Given the description of an element on the screen output the (x, y) to click on. 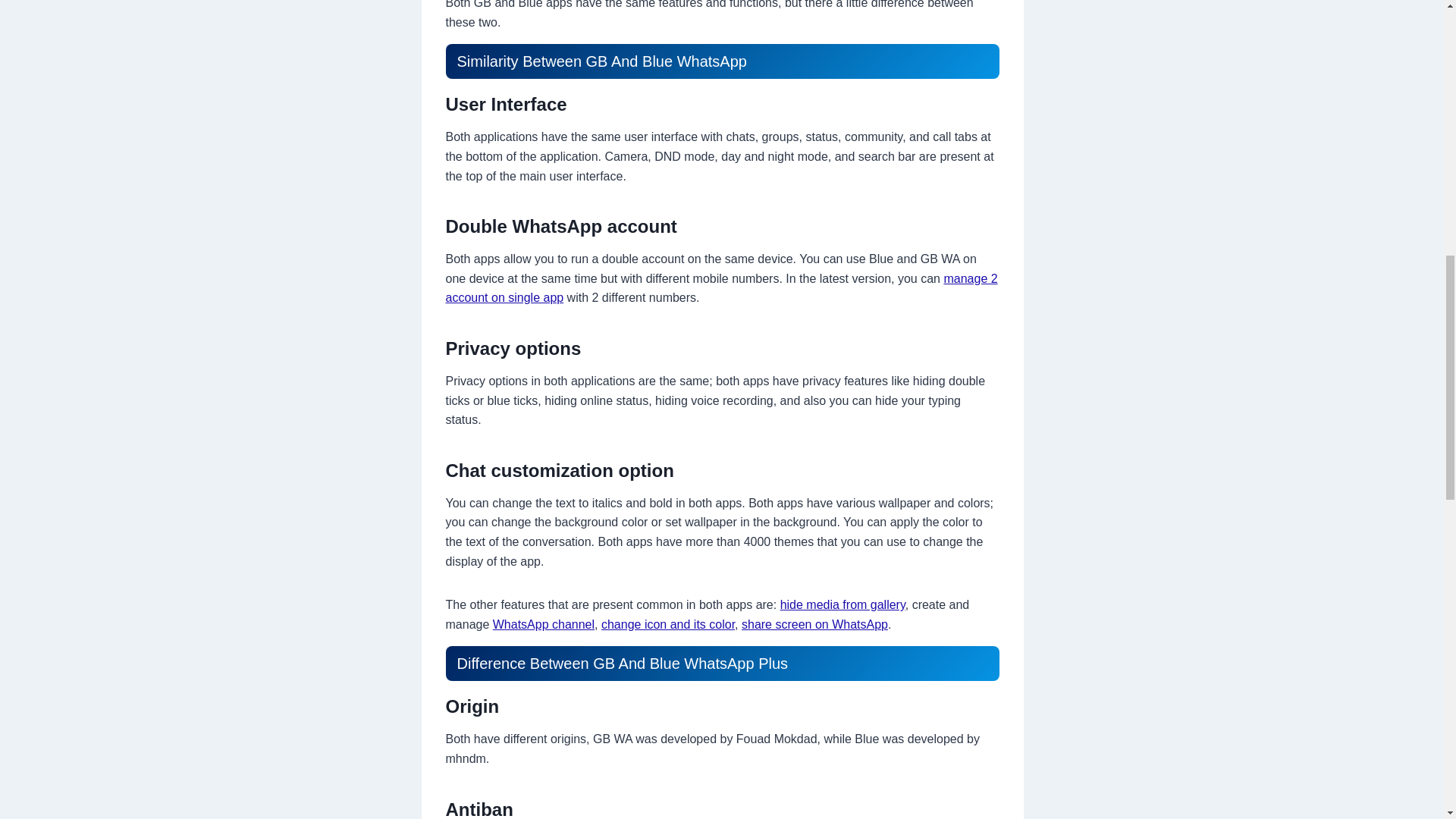
share screen on WhatsApp (814, 624)
manage 2 account on single app (721, 287)
hide media from gallery (842, 604)
WhatsApp channel (543, 624)
change icon and its color (668, 624)
